Given the description of an element on the screen output the (x, y) to click on. 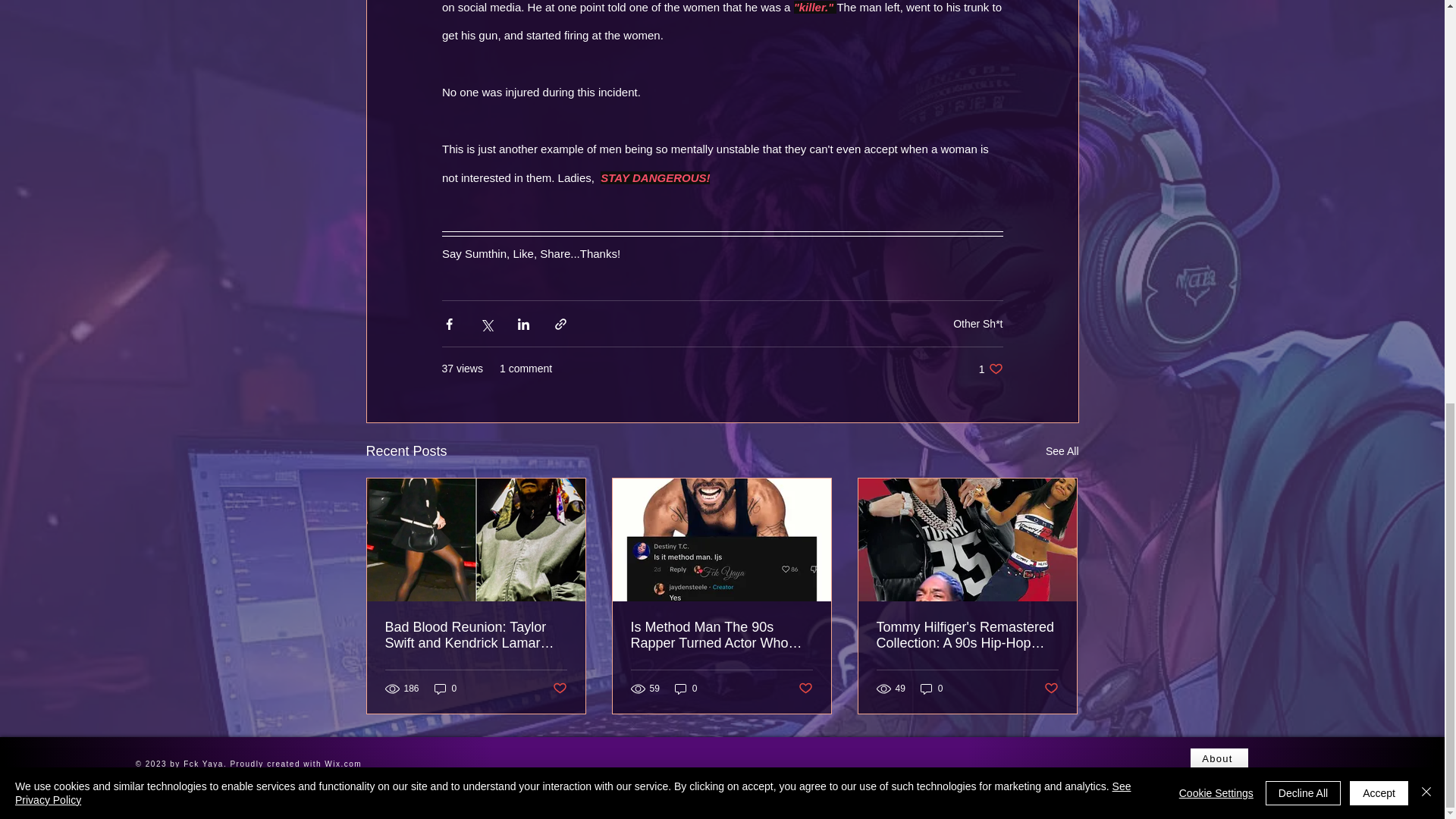
Post not marked as liked (804, 688)
0 (685, 688)
Post not marked as liked (558, 688)
0 (445, 688)
See All (990, 368)
Post not marked as liked (1061, 451)
Wix.com  (1050, 688)
0 (344, 764)
Privacy Policy (931, 688)
